Given the description of an element on the screen output the (x, y) to click on. 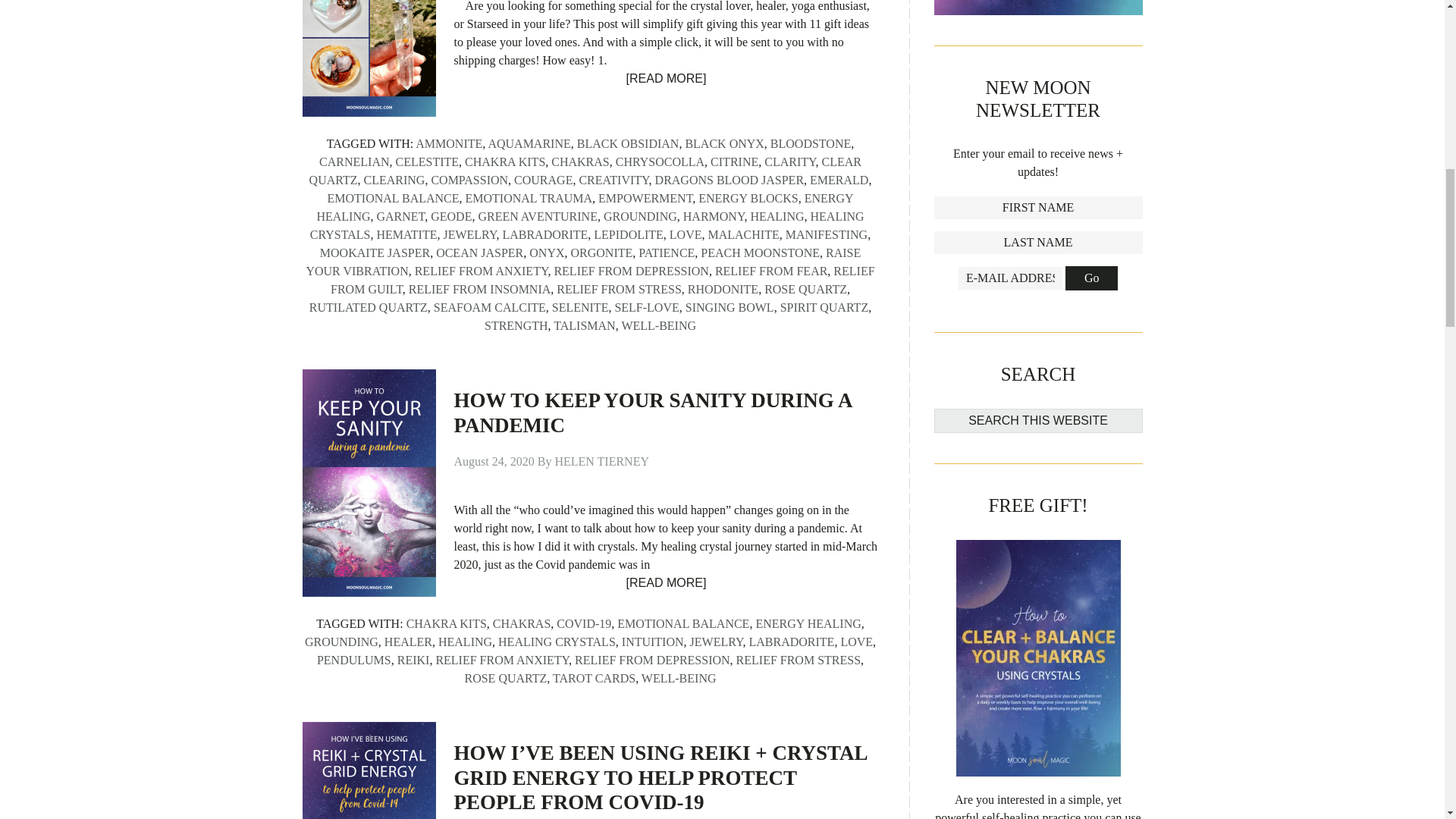
Go (1091, 278)
